Given the description of an element on the screen output the (x, y) to click on. 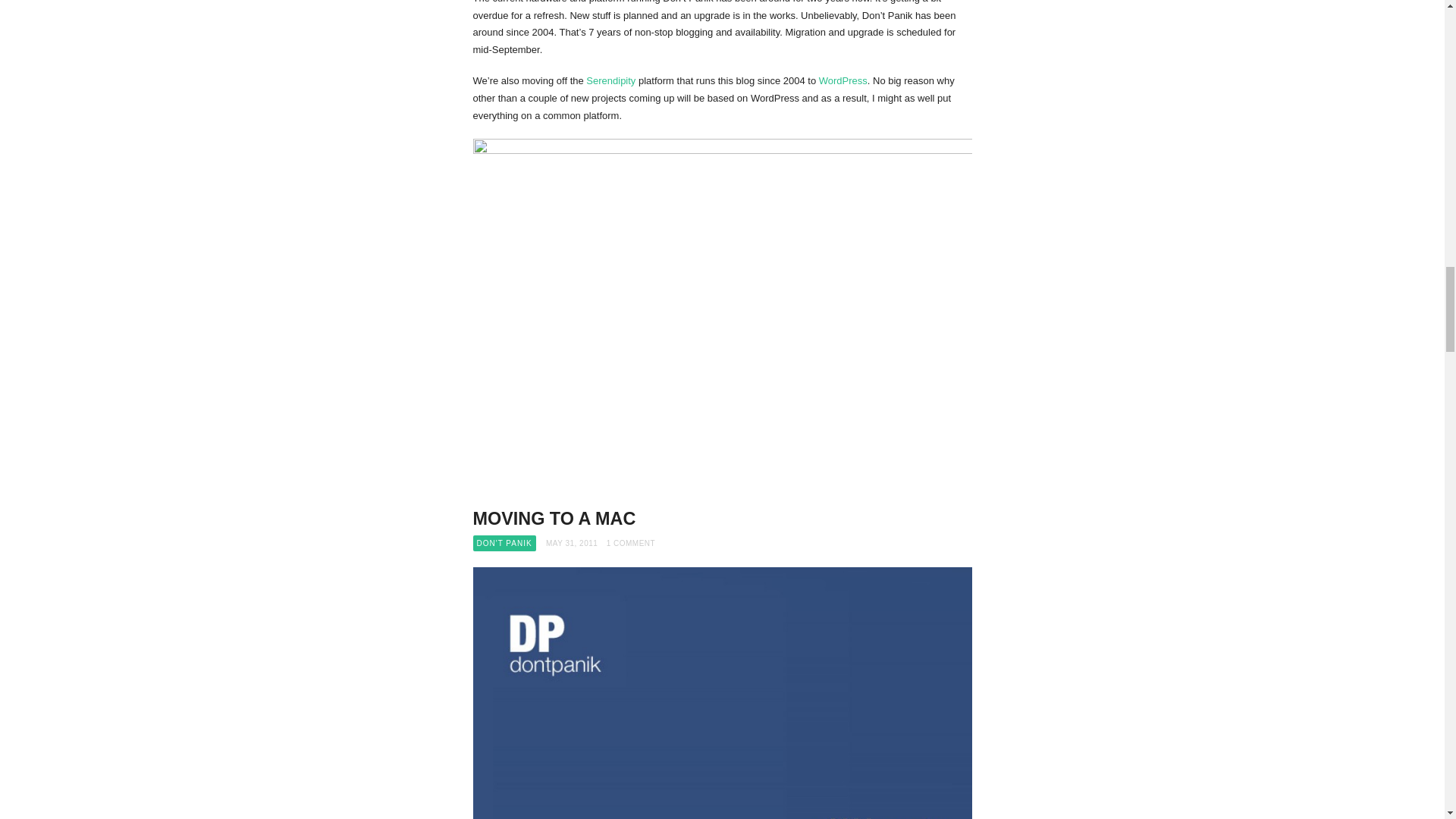
WordPress (842, 80)
Serendipity (610, 80)
1 COMMENT (631, 542)
MOVING TO A MAC (554, 518)
DON'T PANIK (504, 543)
